Given the description of an element on the screen output the (x, y) to click on. 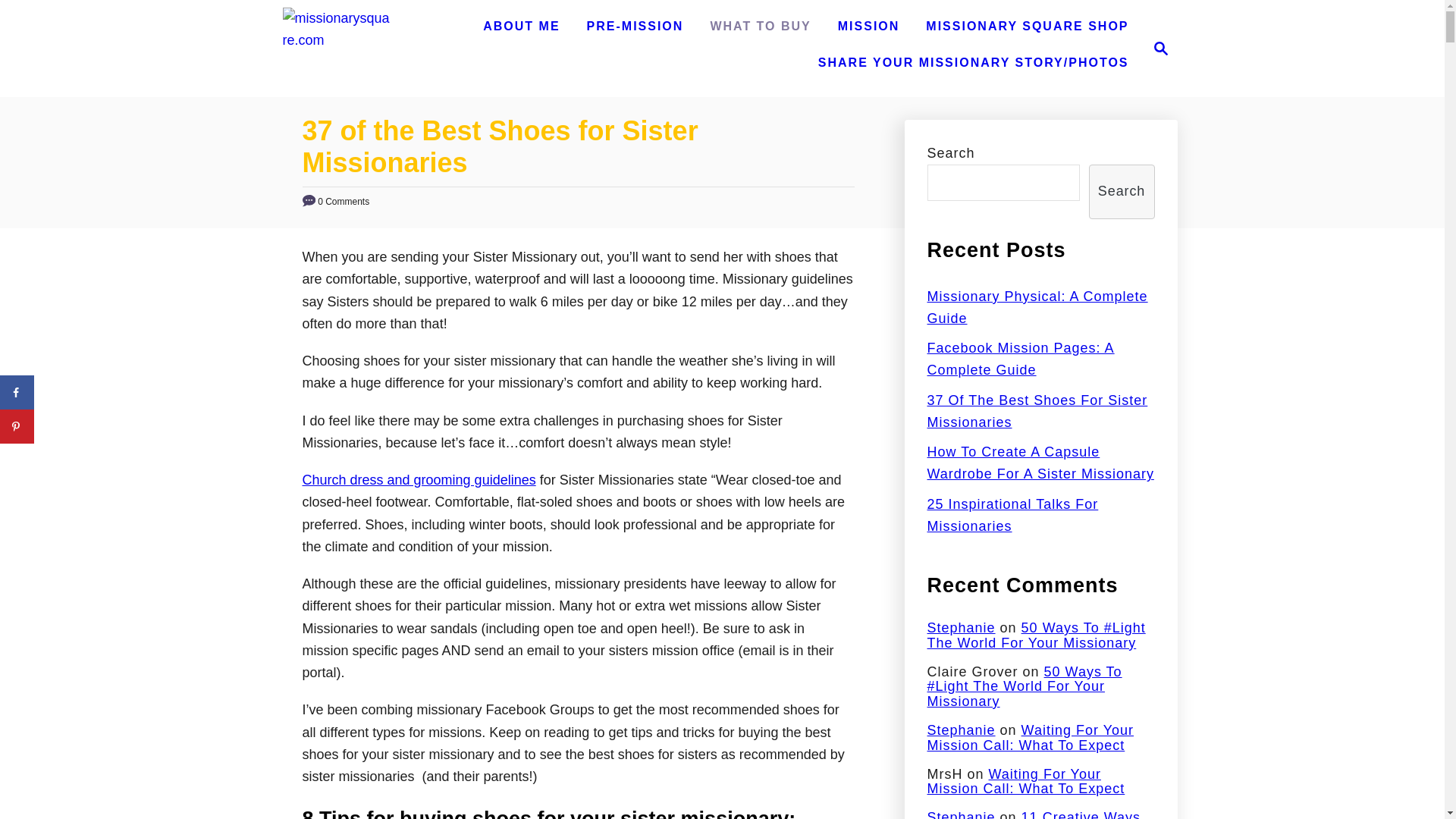
Magnifying Glass (1160, 48)
ABOUT ME (521, 26)
PRE-MISSION (635, 26)
WHAT TO BUY (759, 26)
MISSION (868, 26)
missionarysquare.com (336, 39)
MISSIONARY SQUARE SHOP (1155, 48)
Church dress and grooming guidelines (1026, 26)
